Given the description of an element on the screen output the (x, y) to click on. 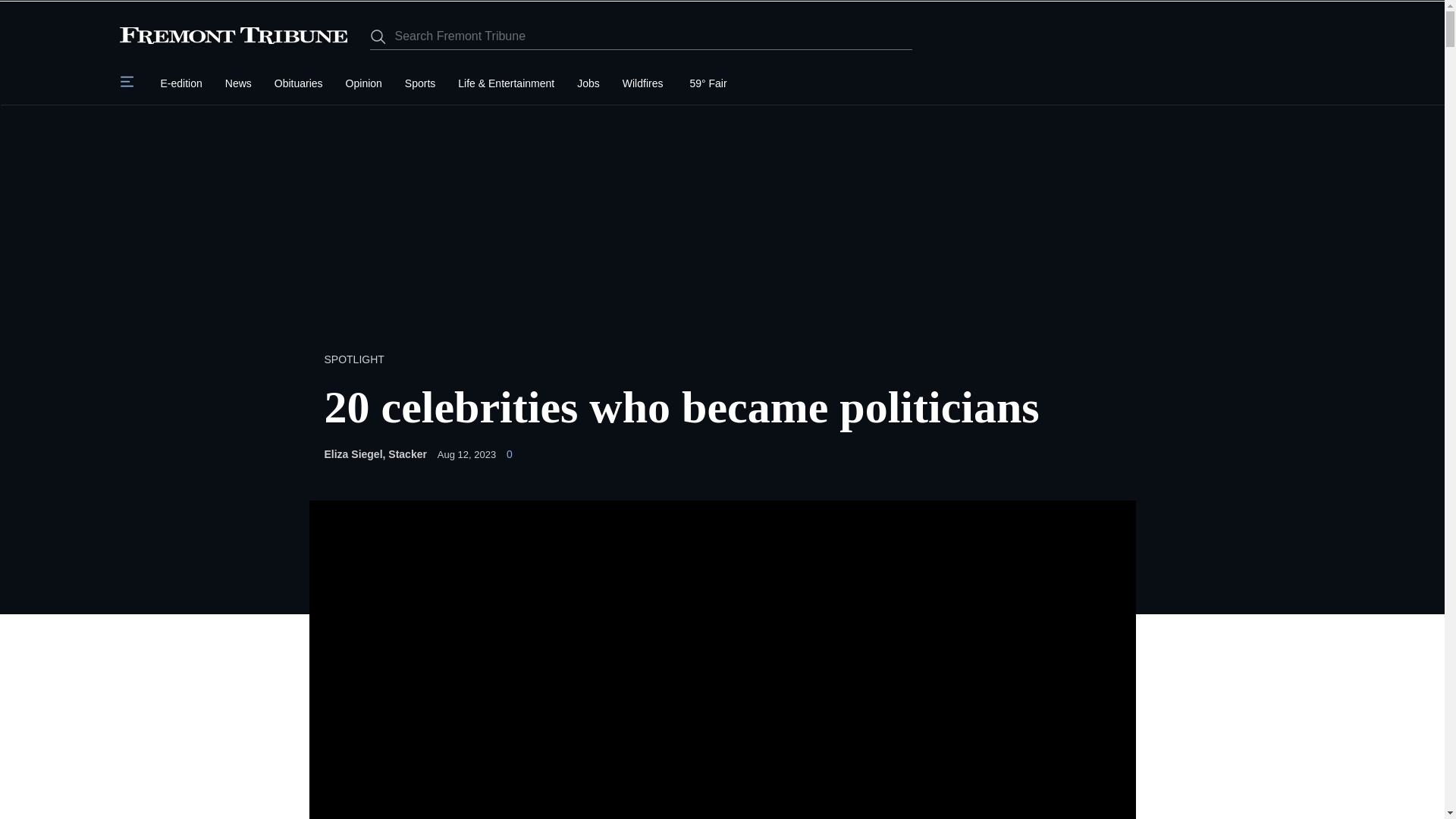
Site Search (652, 36)
